Given the description of an element on the screen output the (x, y) to click on. 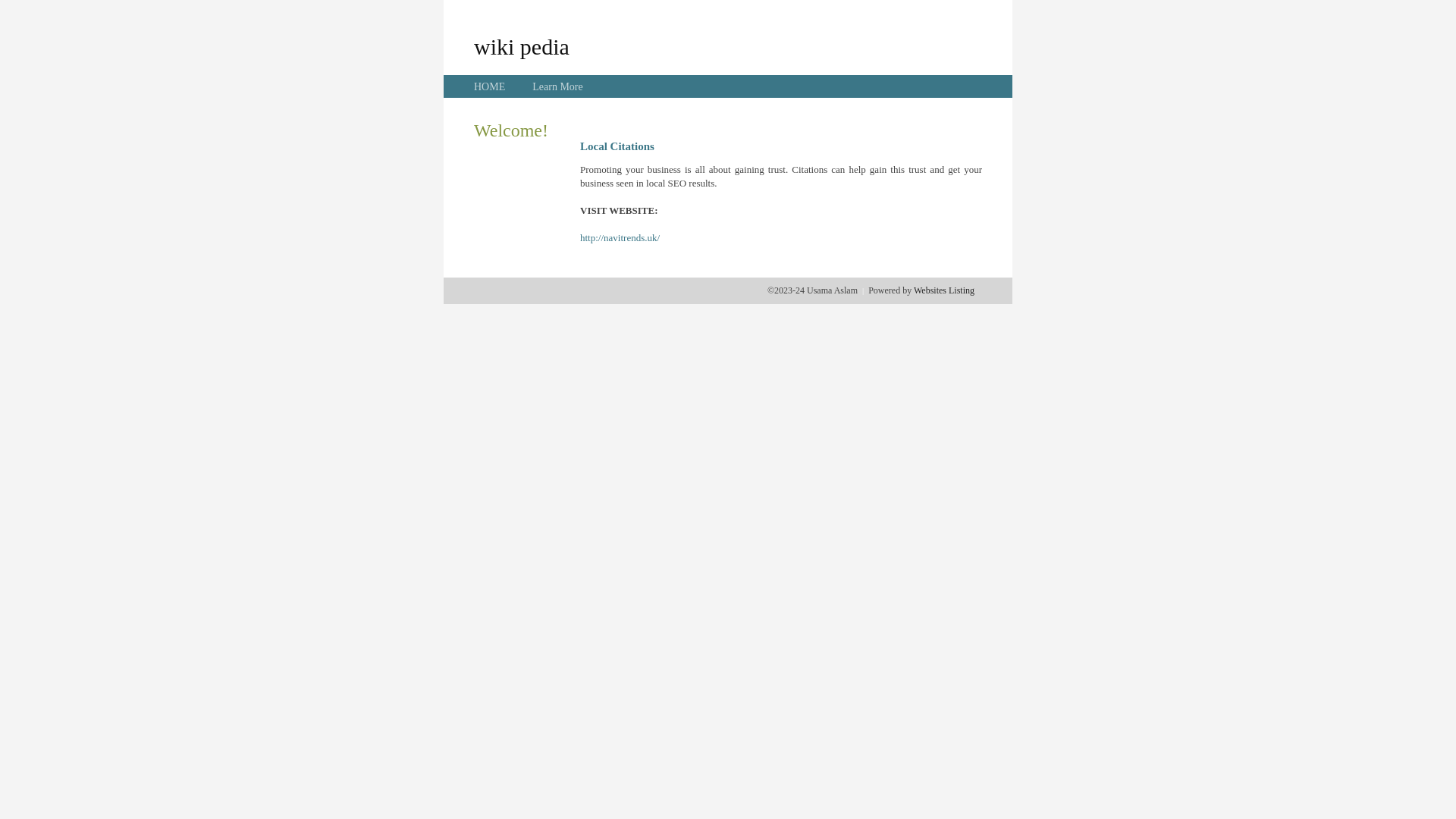
wiki pedia Element type: text (521, 46)
Websites Listing Element type: text (943, 290)
Learn More Element type: text (557, 86)
HOME Element type: text (489, 86)
http://navitrends.uk/ Element type: text (619, 237)
